Given the description of an element on the screen output the (x, y) to click on. 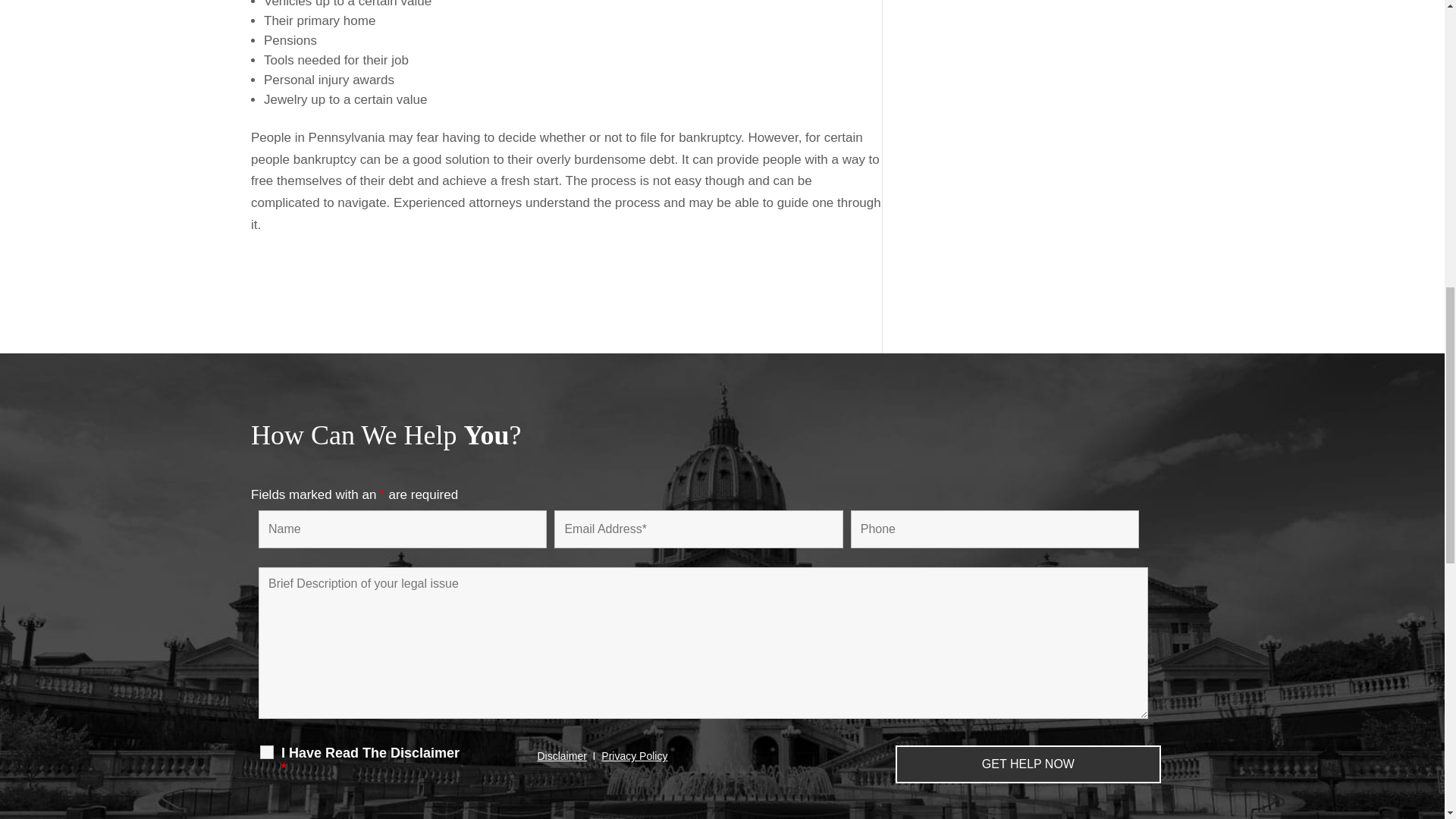
GET HELP NOW (1027, 763)
